Given the description of an element on the screen output the (x, y) to click on. 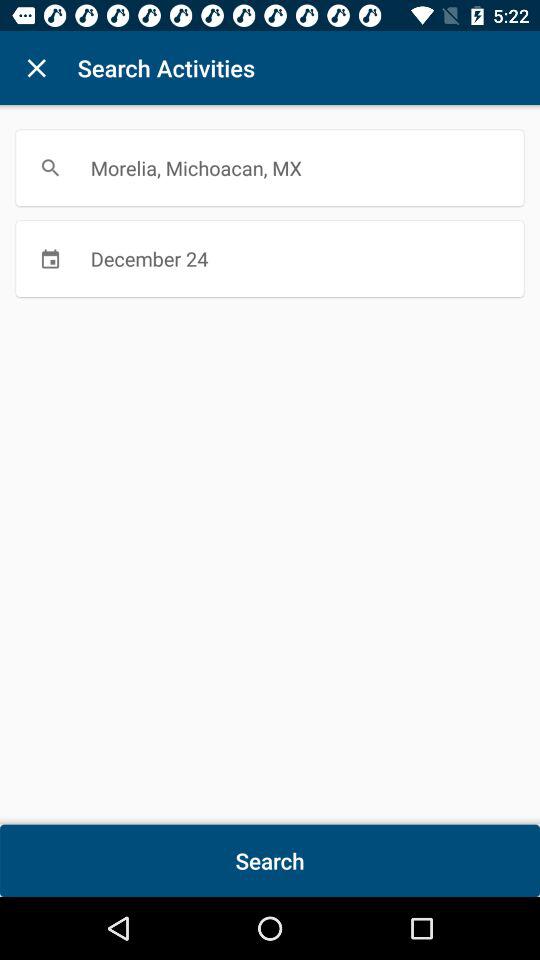
select december 24 (269, 258)
